Given the description of an element on the screen output the (x, y) to click on. 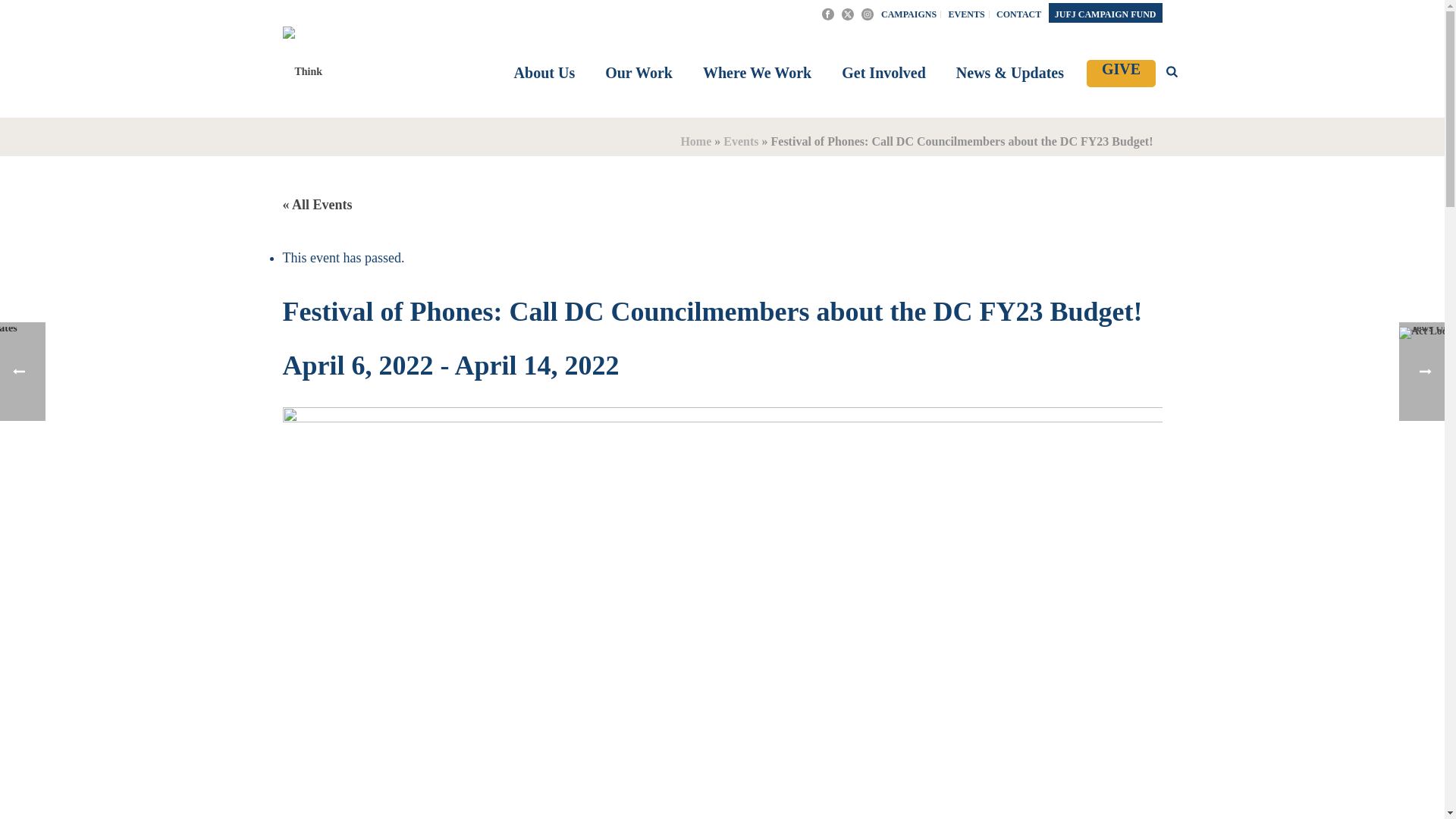
About Us (545, 73)
CAMPAIGNS (908, 14)
Where We Work (757, 73)
Get Involved (883, 73)
Our Work (638, 73)
GIVE (1121, 72)
About Us (545, 73)
Where We Work (757, 73)
CONTACT (1018, 14)
JUFJ CAMPAIGN FUND (1104, 14)
